Given the description of an element on the screen output the (x, y) to click on. 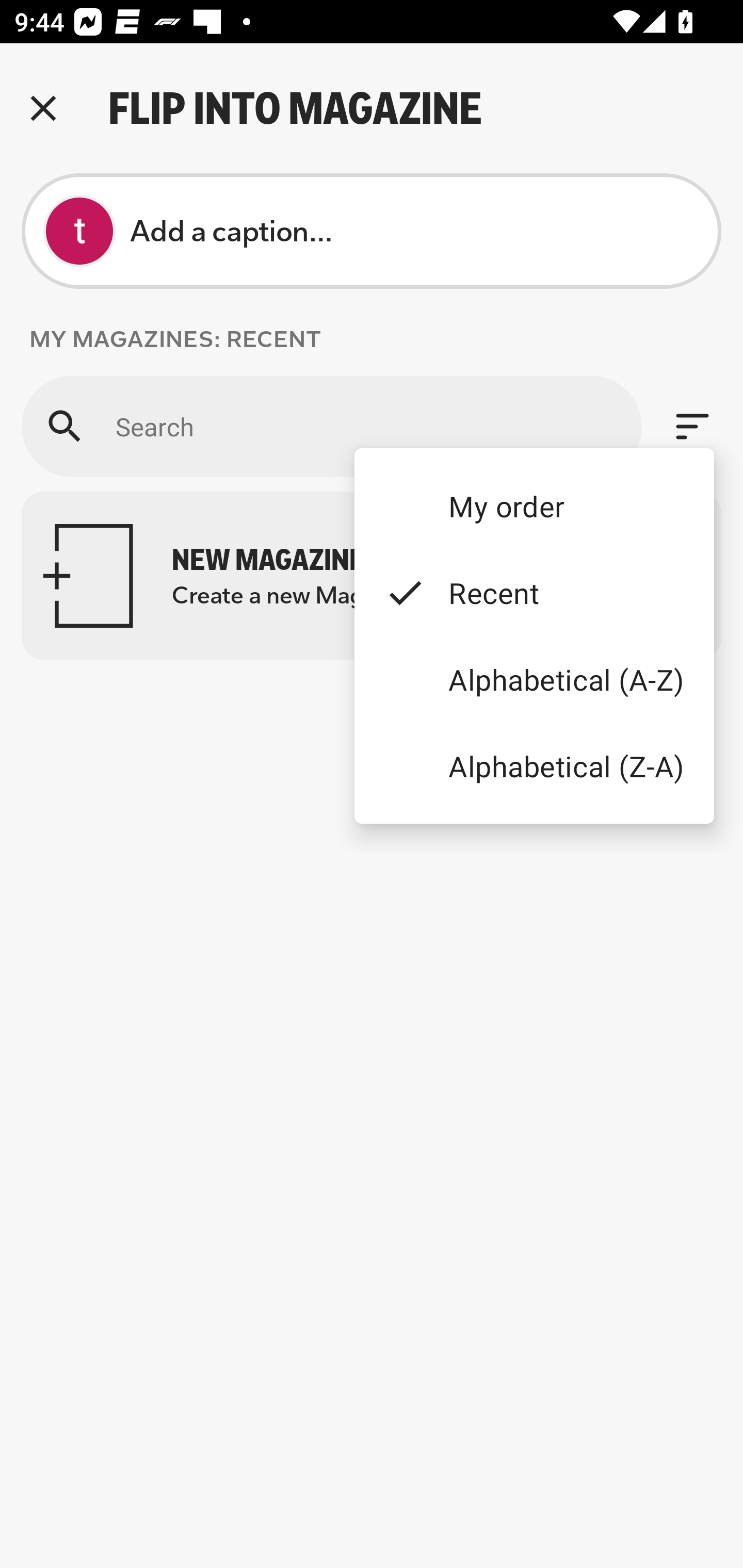
My order (534, 505)
Recent (534, 592)
Alphabetical (A-Z) (534, 679)
Alphabetical (Z-A) (534, 765)
